Given the description of an element on the screen output the (x, y) to click on. 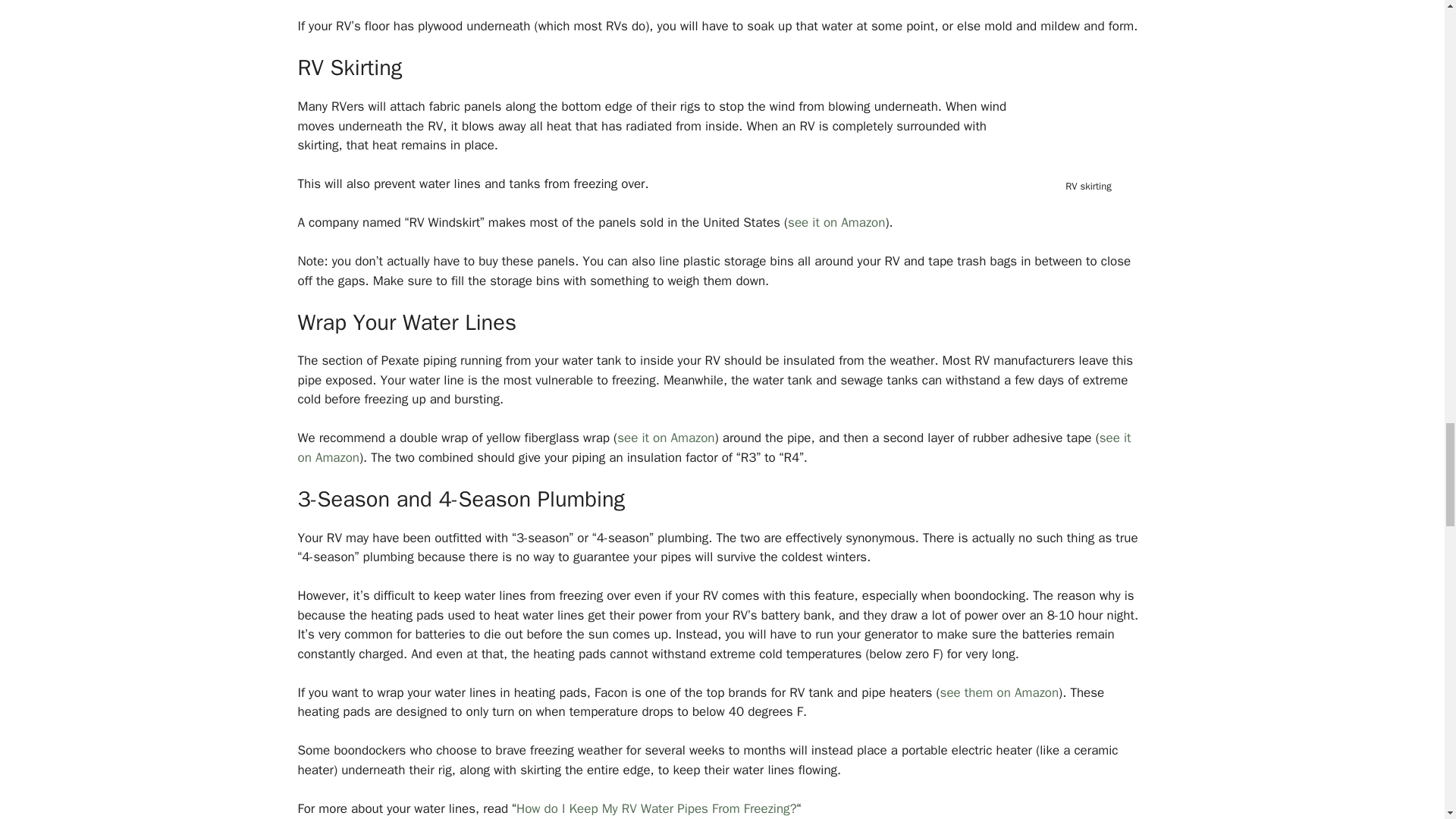
How do I Keep My RV Water Pipes From Freezing? (656, 808)
see them on Amazon (999, 692)
see it on Amazon (665, 437)
see it on Amazon (714, 447)
see it on Amazon (836, 222)
